Given the description of an element on the screen output the (x, y) to click on. 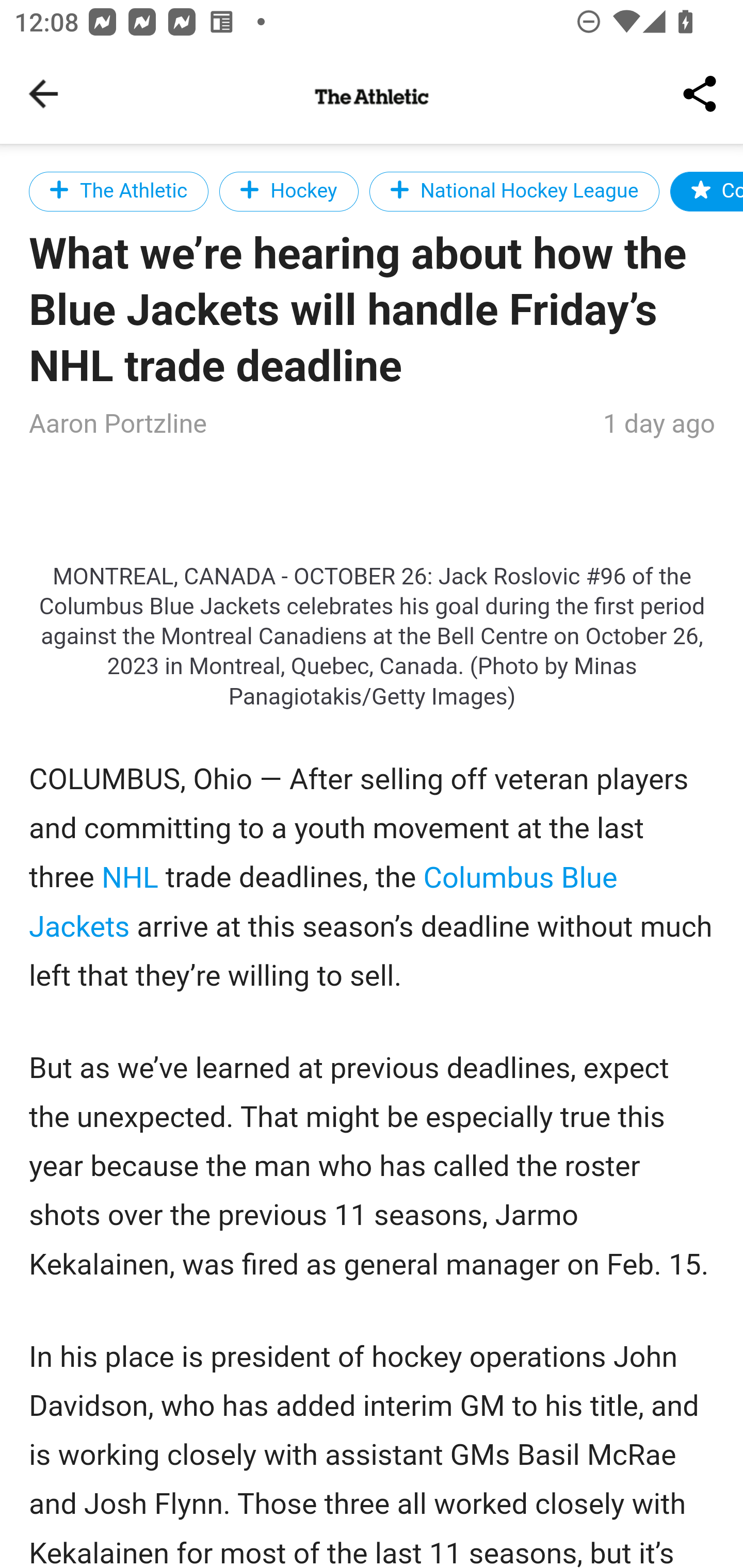
The Athletic (118, 191)
Hockey (288, 191)
National Hockey League (514, 191)
Columbus Blue Jackets (323, 901)
NHL (130, 876)
